Given the description of an element on the screen output the (x, y) to click on. 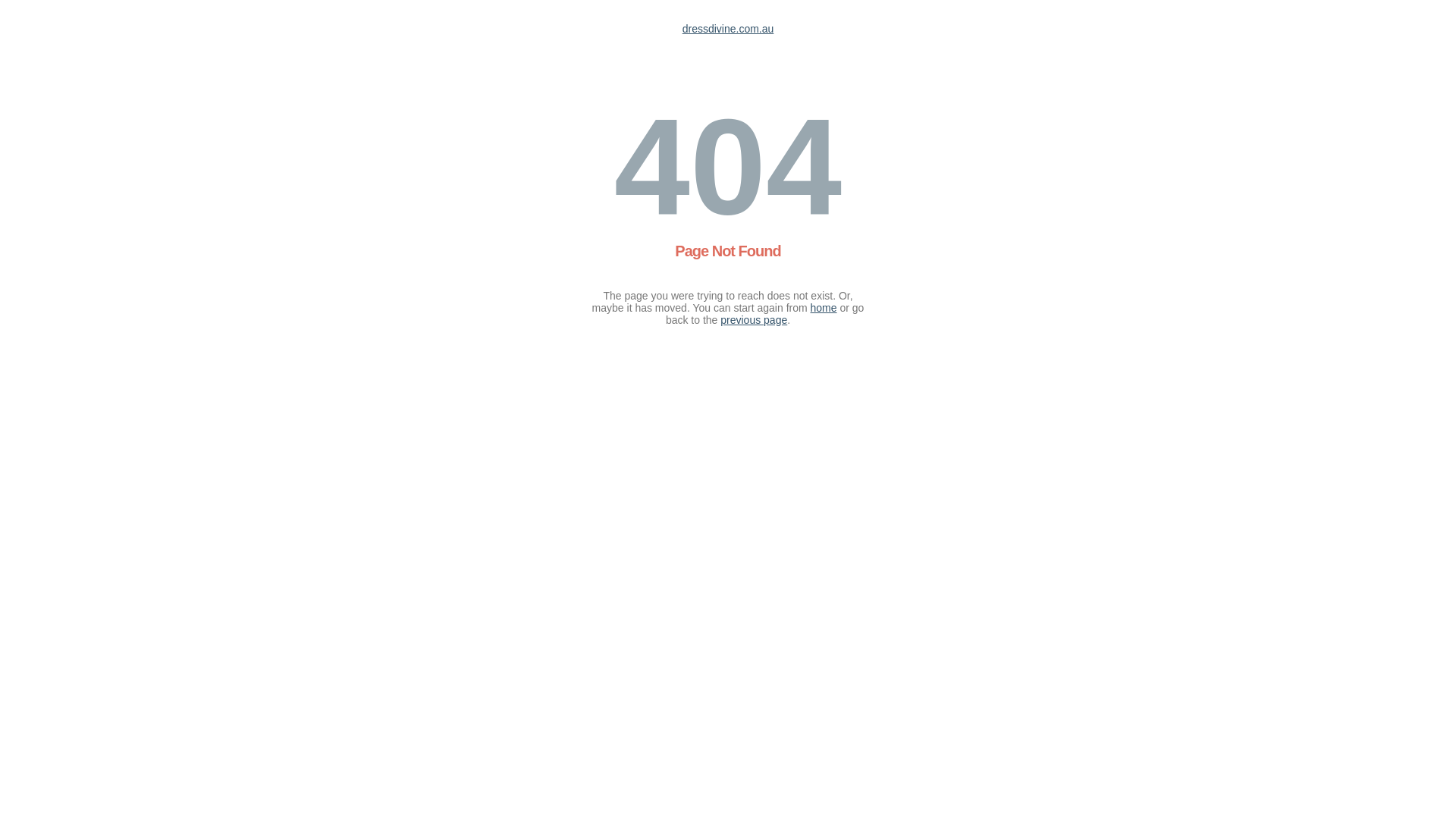
home Element type: text (823, 307)
dressdivine.com.au Element type: text (728, 28)
previous page Element type: text (753, 319)
